Given the description of an element on the screen output the (x, y) to click on. 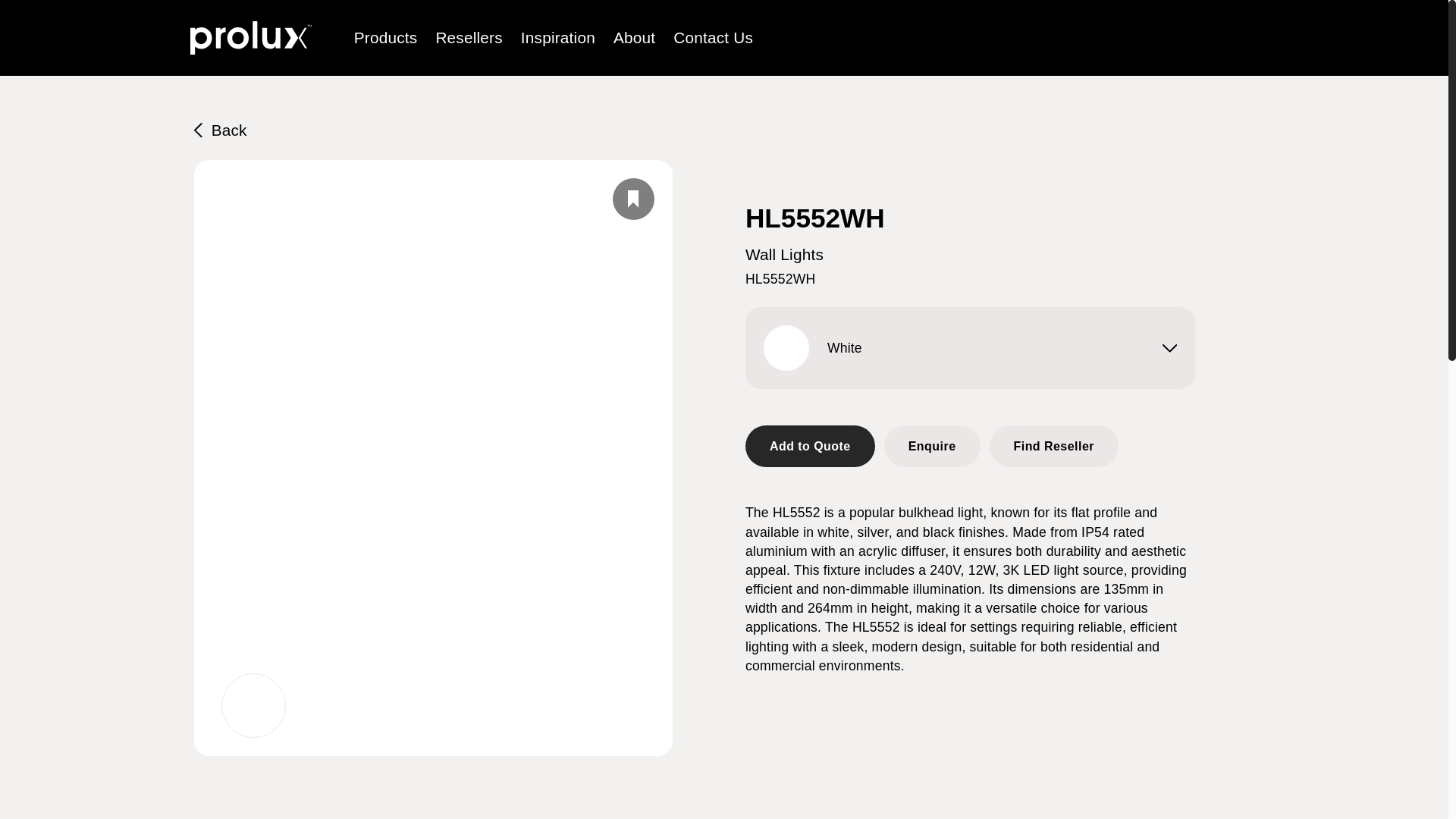
Find Reseller (1053, 444)
Products (385, 37)
Enquire (931, 444)
Contact Us (712, 37)
About (633, 37)
Resellers (468, 37)
Add to Quote (810, 445)
Inspiration (558, 37)
Find Reseller (1053, 445)
Enquire (931, 445)
